Given the description of an element on the screen output the (x, y) to click on. 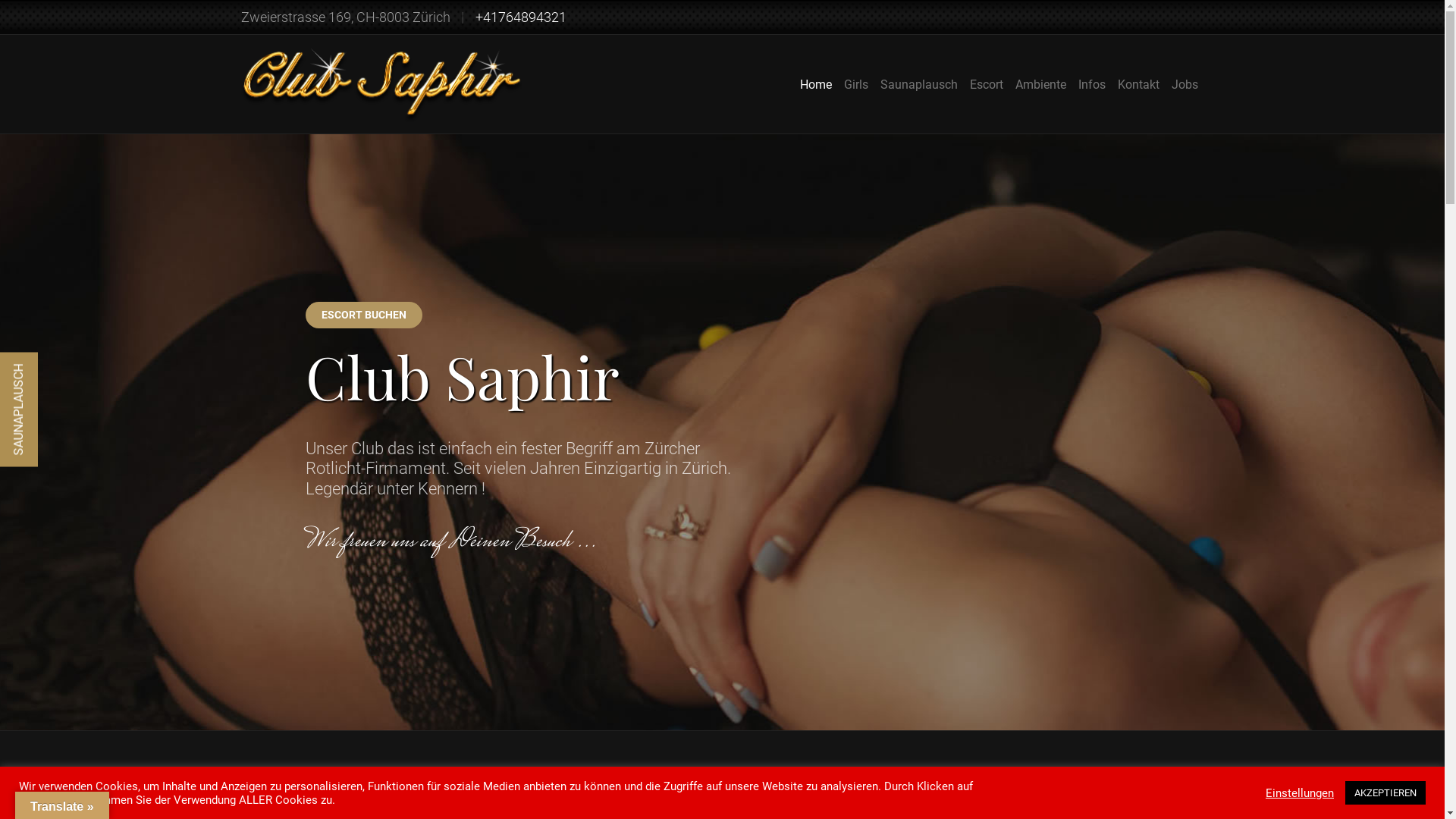
Home Element type: text (815, 84)
Saunaplausch Element type: text (918, 84)
Girls Element type: text (855, 84)
Jobs Element type: text (1183, 84)
Escort buchen Element type: text (1034, 498)
+41764894321 Element type: text (519, 17)
Kontakt Element type: text (1138, 84)
AKZEPTIEREN Element type: text (1385, 792)
SAUNAPLAUSCH Element type: text (57, 370)
ESCORT BUCHEN Element type: text (1084, 345)
Einstellungen Element type: text (1299, 792)
Infos Element type: text (1091, 84)
Escort Element type: text (985, 84)
Ambiente Element type: text (1039, 84)
